Given the description of an element on the screen output the (x, y) to click on. 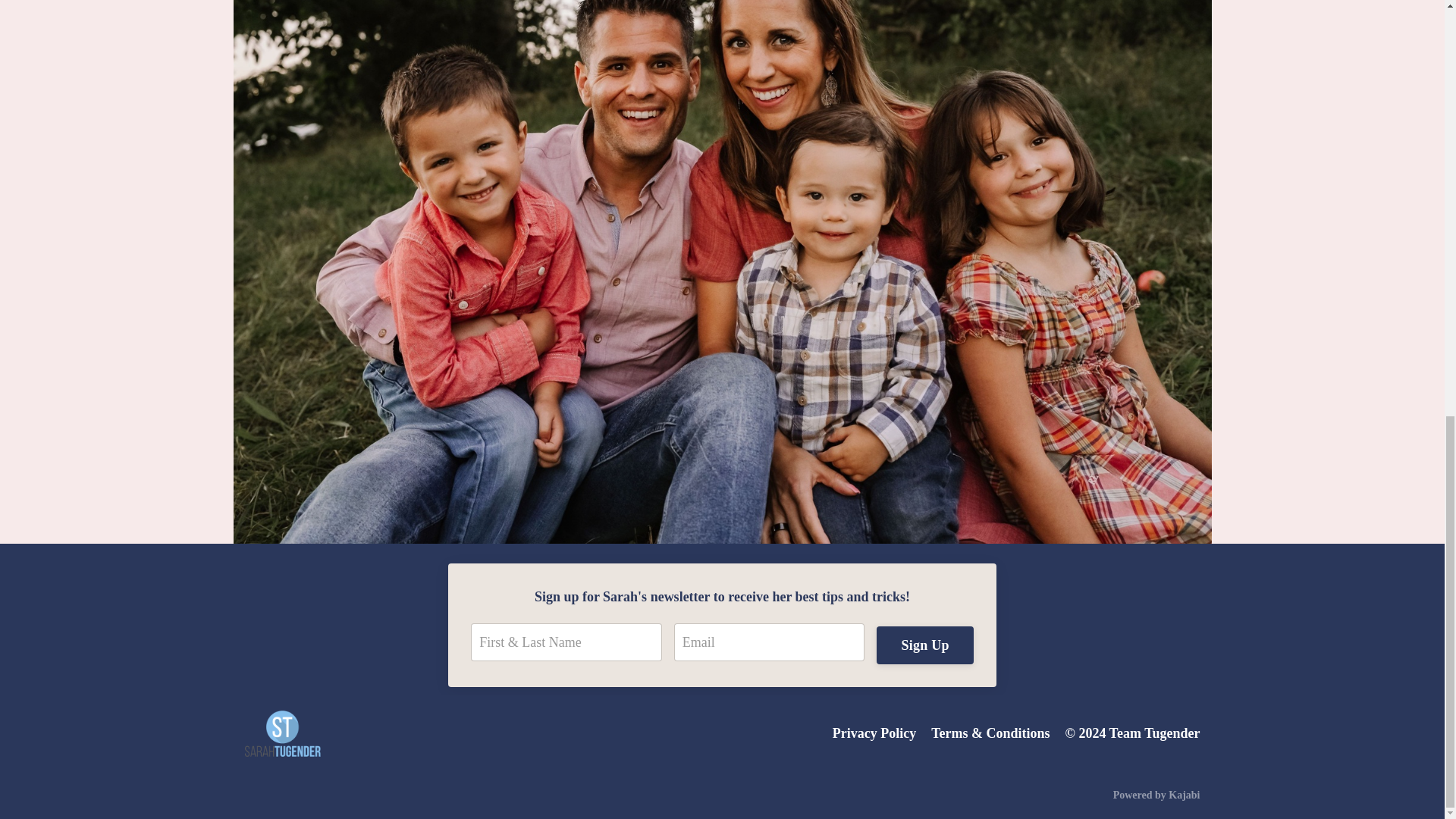
Powered by Kajabi (1156, 794)
Privacy Policy (873, 733)
Sign Up (924, 645)
